Given the description of an element on the screen output the (x, y) to click on. 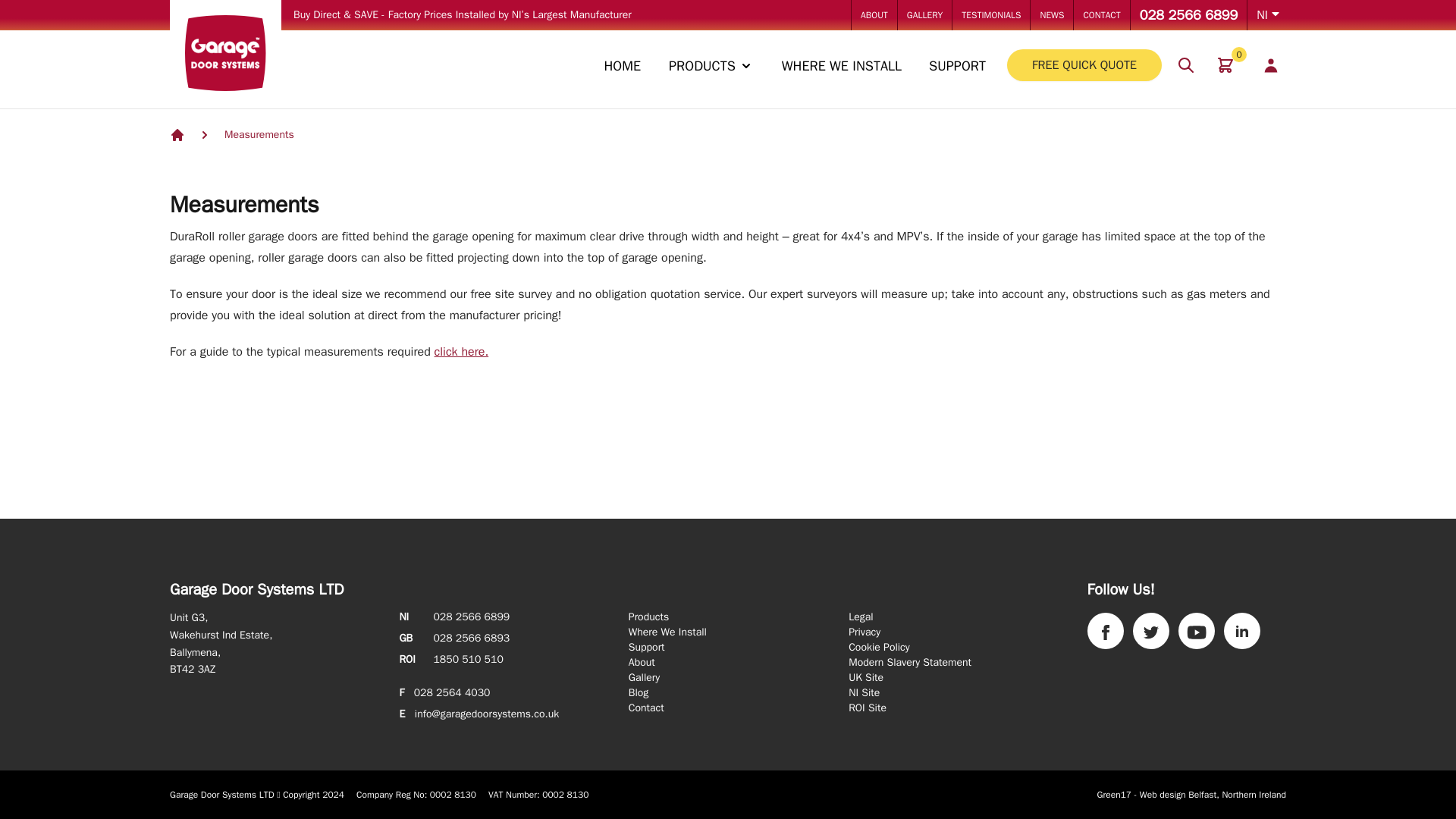
TESTIMONIALS (990, 15)
NI (1266, 15)
FREE QUICK QUOTE (1084, 65)
ABOUT (873, 15)
NEWS (1051, 15)
SKIP TO MAIN CONTENT (24, 1)
Search (1185, 65)
CONTACT (1224, 64)
028 2566 6899 (1101, 15)
SUPPORT (1189, 14)
PRODUCTS (957, 69)
GALLERY (711, 69)
WHERE WE INSTALL (925, 15)
My Account (841, 69)
